Given the description of an element on the screen output the (x, y) to click on. 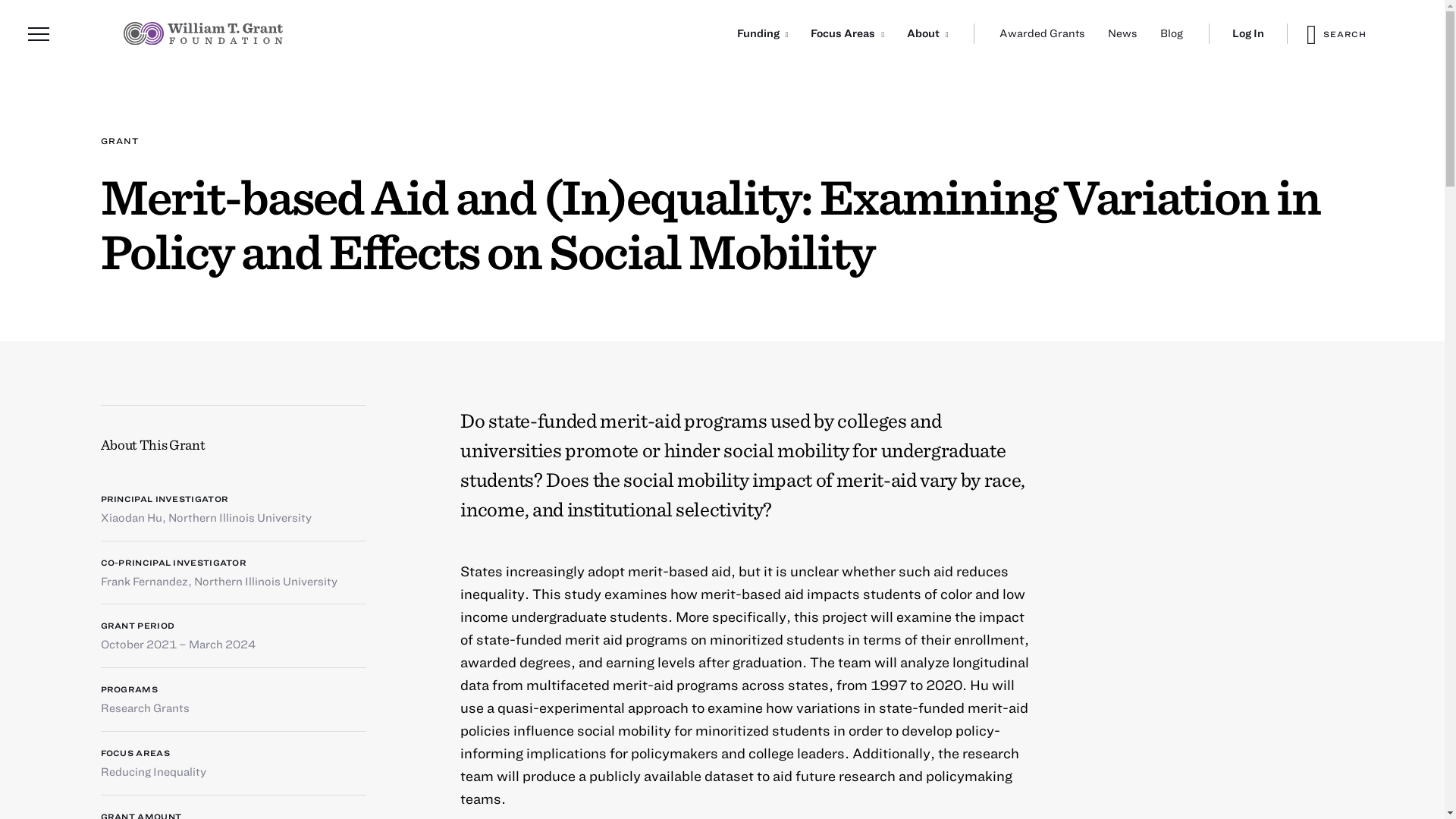
SEARCH (1336, 29)
Log In (1248, 32)
Funding (762, 33)
About (927, 33)
Log In (1248, 32)
Xiaodan Hu (130, 517)
Awarded Grants (1042, 33)
Search (1336, 29)
Focus Areas (847, 33)
